Given the description of an element on the screen output the (x, y) to click on. 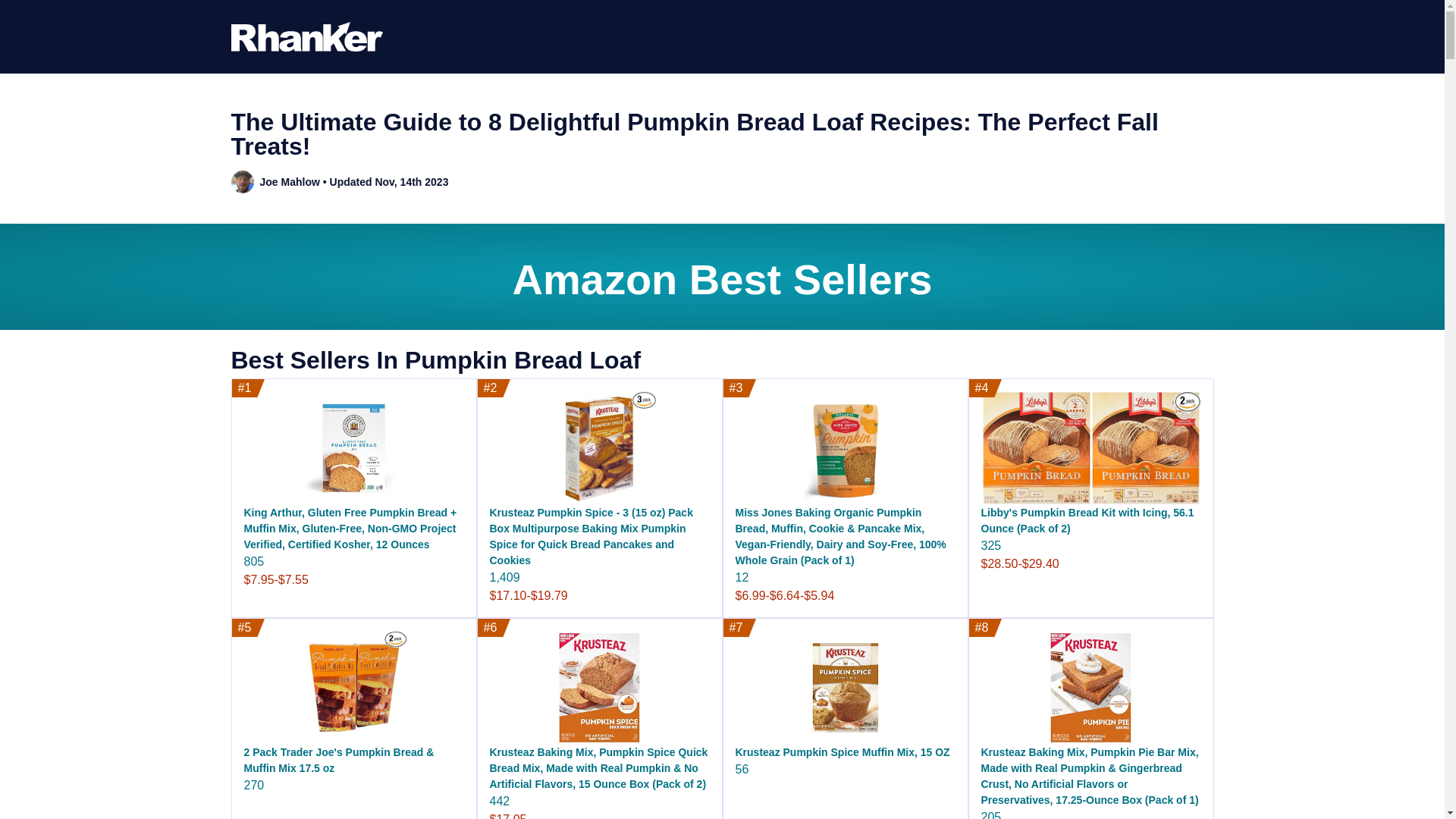
325 (991, 545)
1,409 (504, 576)
442 (500, 800)
12 (742, 576)
805 (254, 561)
Krusteaz Pumpkin Spice Muffin Mix, 15 OZ (842, 752)
56 (742, 768)
Joe Mahlow (288, 182)
270 (254, 784)
